Given the description of an element on the screen output the (x, y) to click on. 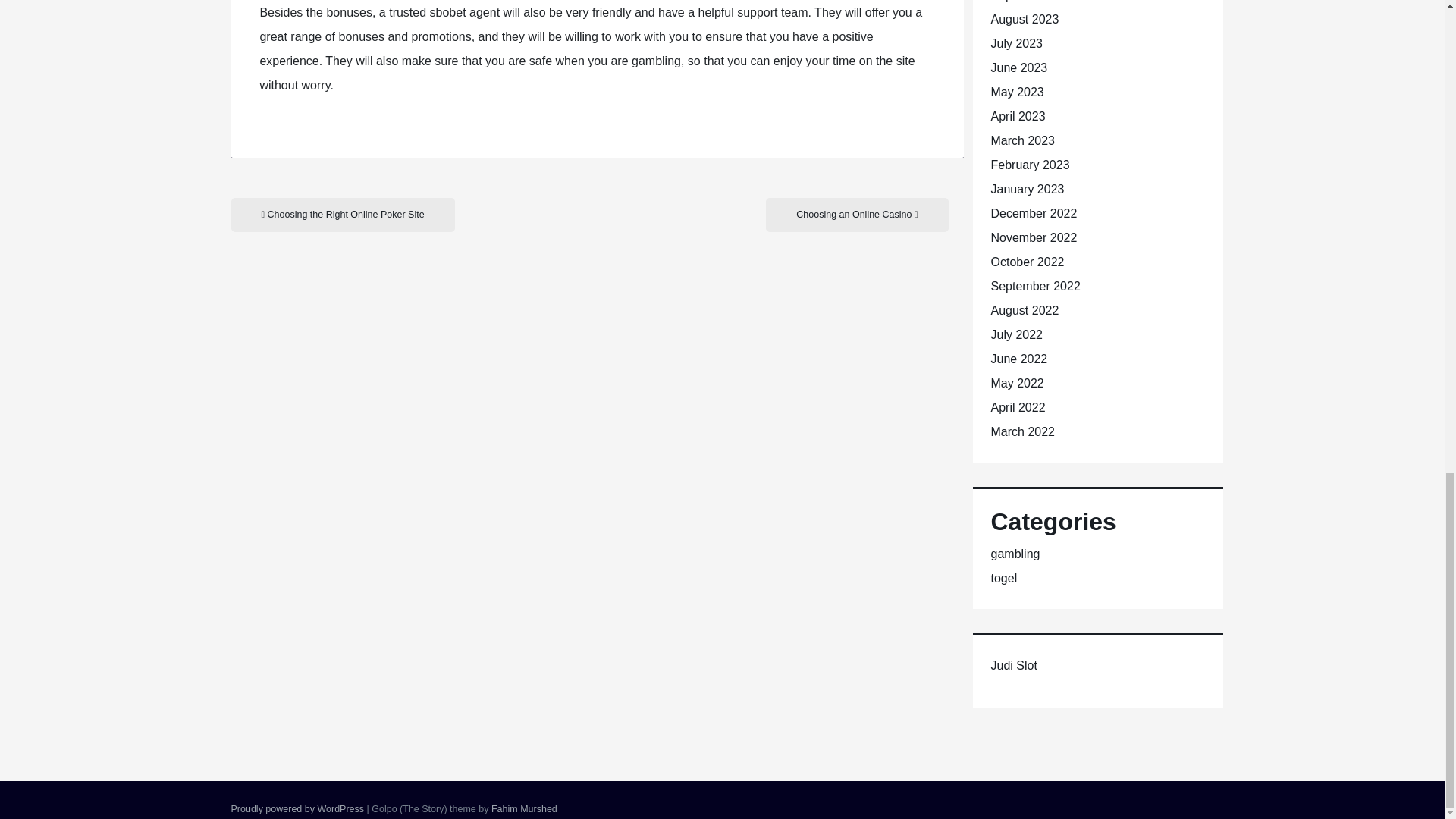
February 2023 (1029, 164)
August 2022 (1024, 309)
May 2023 (1016, 91)
September 2023 (1035, 0)
October 2022 (1027, 261)
November 2022 (1033, 237)
September 2022 (1035, 286)
April 2023 (1017, 115)
December 2022 (1033, 213)
June 2023 (1018, 67)
Choosing the Right Online Poker Site (342, 214)
March 2023 (1022, 140)
July 2023 (1016, 42)
January 2023 (1027, 188)
Choosing an Online Casino (856, 214)
